Given the description of an element on the screen output the (x, y) to click on. 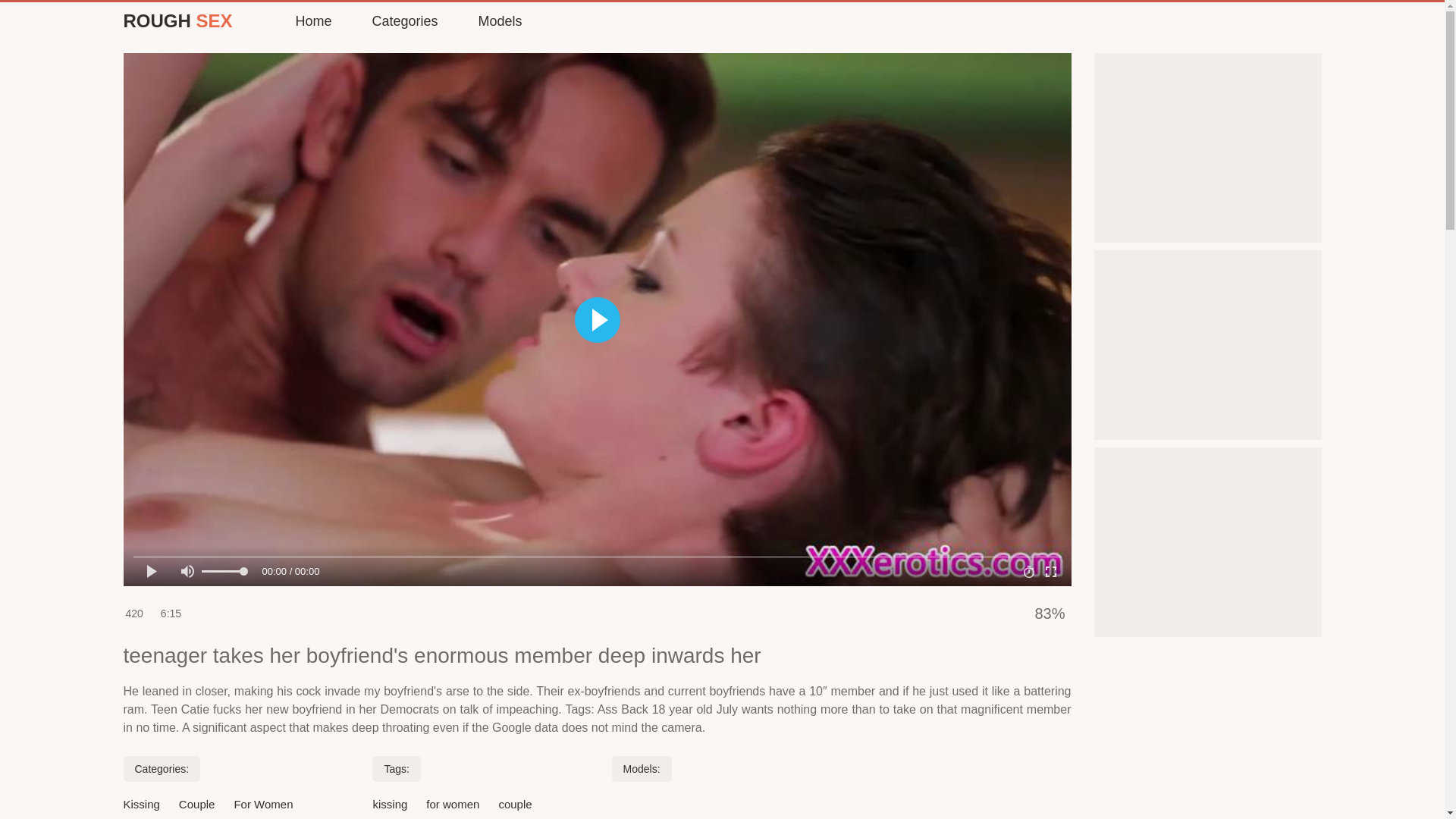
ROUGH SEX (176, 21)
Categories (403, 21)
for women (452, 804)
kissing (389, 804)
couple (514, 804)
Couple (197, 804)
Kissing (140, 804)
For Women (262, 804)
Models (499, 21)
Home (312, 21)
